Given the description of an element on the screen output the (x, y) to click on. 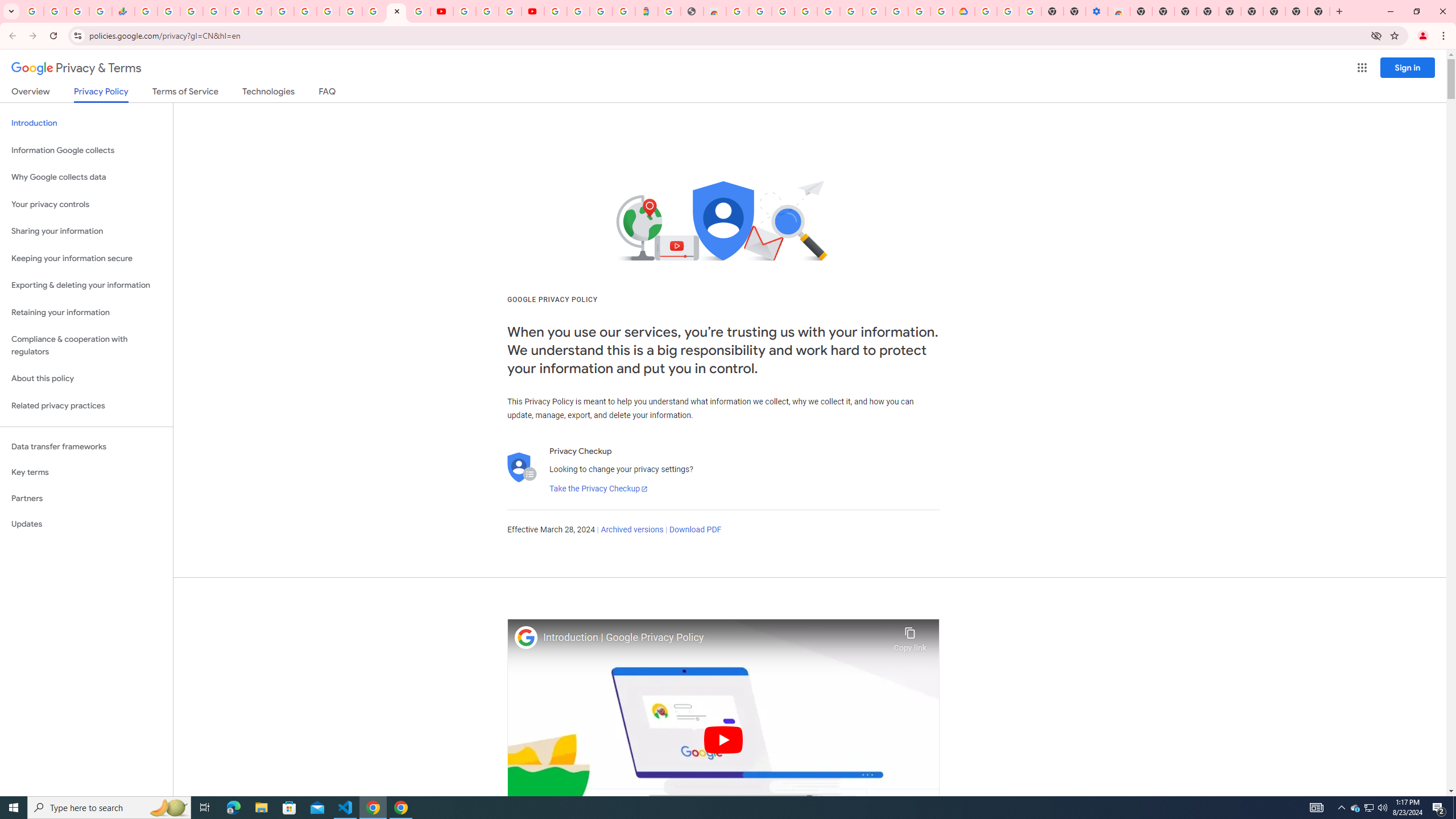
Chrome (1445, 35)
Updates (86, 524)
Third-party cookies blocked (1376, 35)
Restore (1416, 11)
Create your Google Account (760, 11)
Copy link (909, 636)
Google Workspace Admin Community (32, 11)
Settings - Accessibility (1096, 11)
Overview (30, 93)
System (6, 6)
Exporting & deleting your information (86, 284)
About this policy (86, 379)
